Given the description of an element on the screen output the (x, y) to click on. 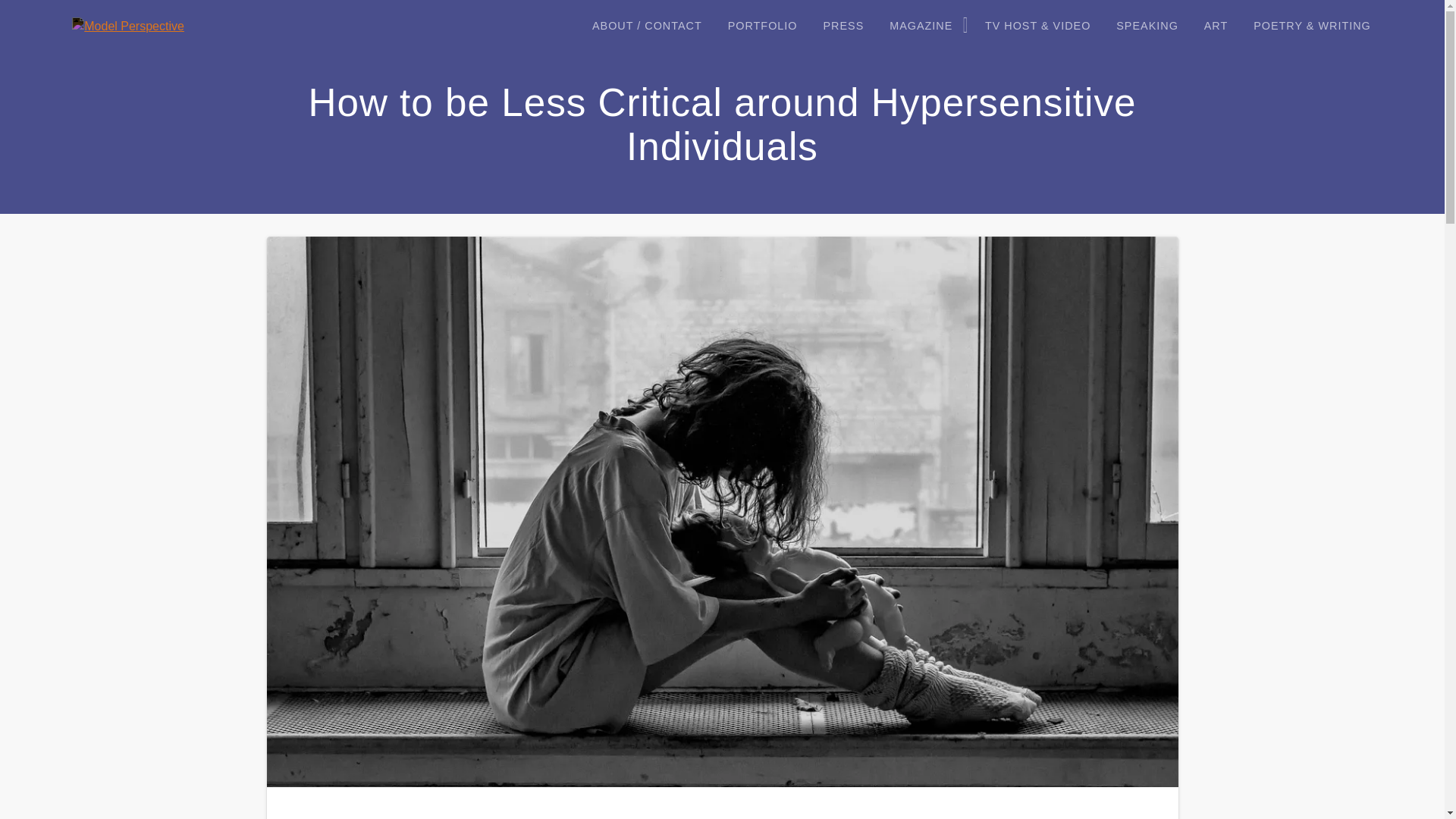
PRESS (842, 26)
ART (1215, 26)
MAGAZINE (924, 26)
SPEAKING (1147, 26)
PORTFOLIO (762, 26)
